Given the description of an element on the screen output the (x, y) to click on. 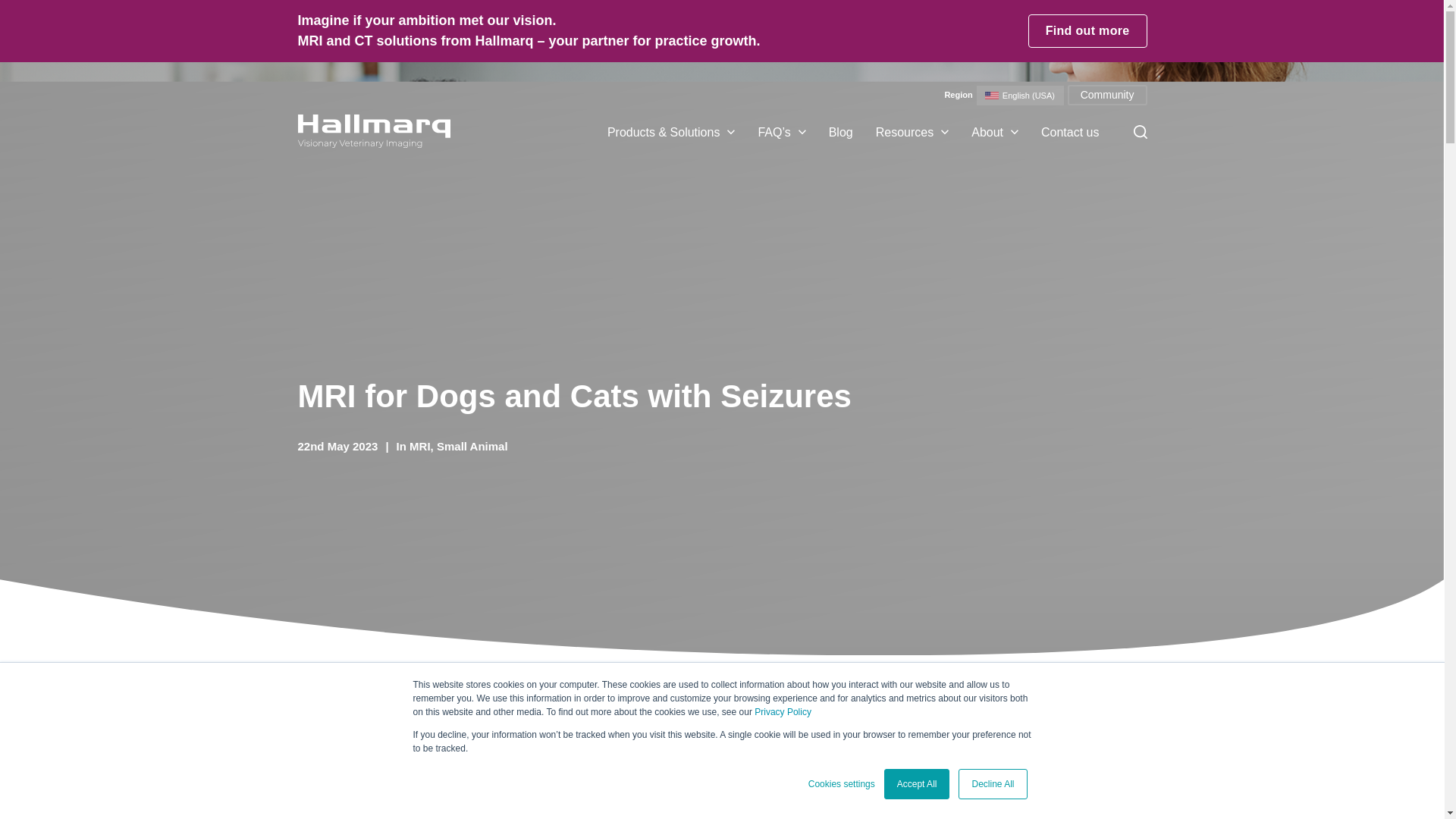
Blog (840, 131)
Decline All (992, 784)
22nd May 2023 (337, 446)
Resources (904, 131)
Small Animal (472, 445)
Contact us (1070, 131)
About (987, 131)
Privacy Policy (782, 711)
Cookies settings (841, 784)
MRI (419, 445)
